Given the description of an element on the screen output the (x, y) to click on. 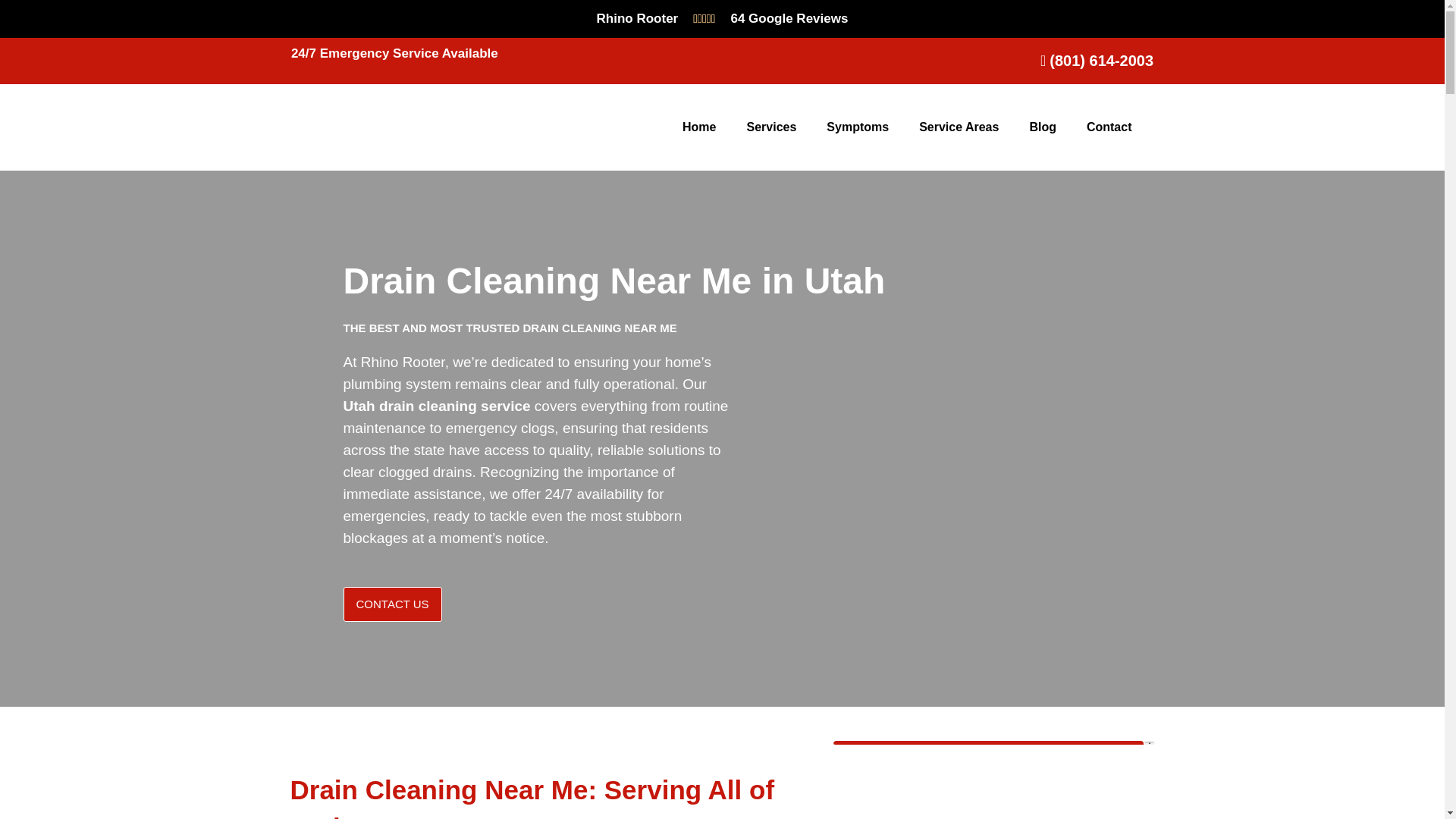
Symptoms (857, 126)
Contact (1109, 126)
Service Areas (958, 126)
Services (770, 126)
Blog (1042, 126)
Rhino Rooter (637, 18)
Home (698, 126)
64 Google Reviews (788, 18)
